Given the description of an element on the screen output the (x, y) to click on. 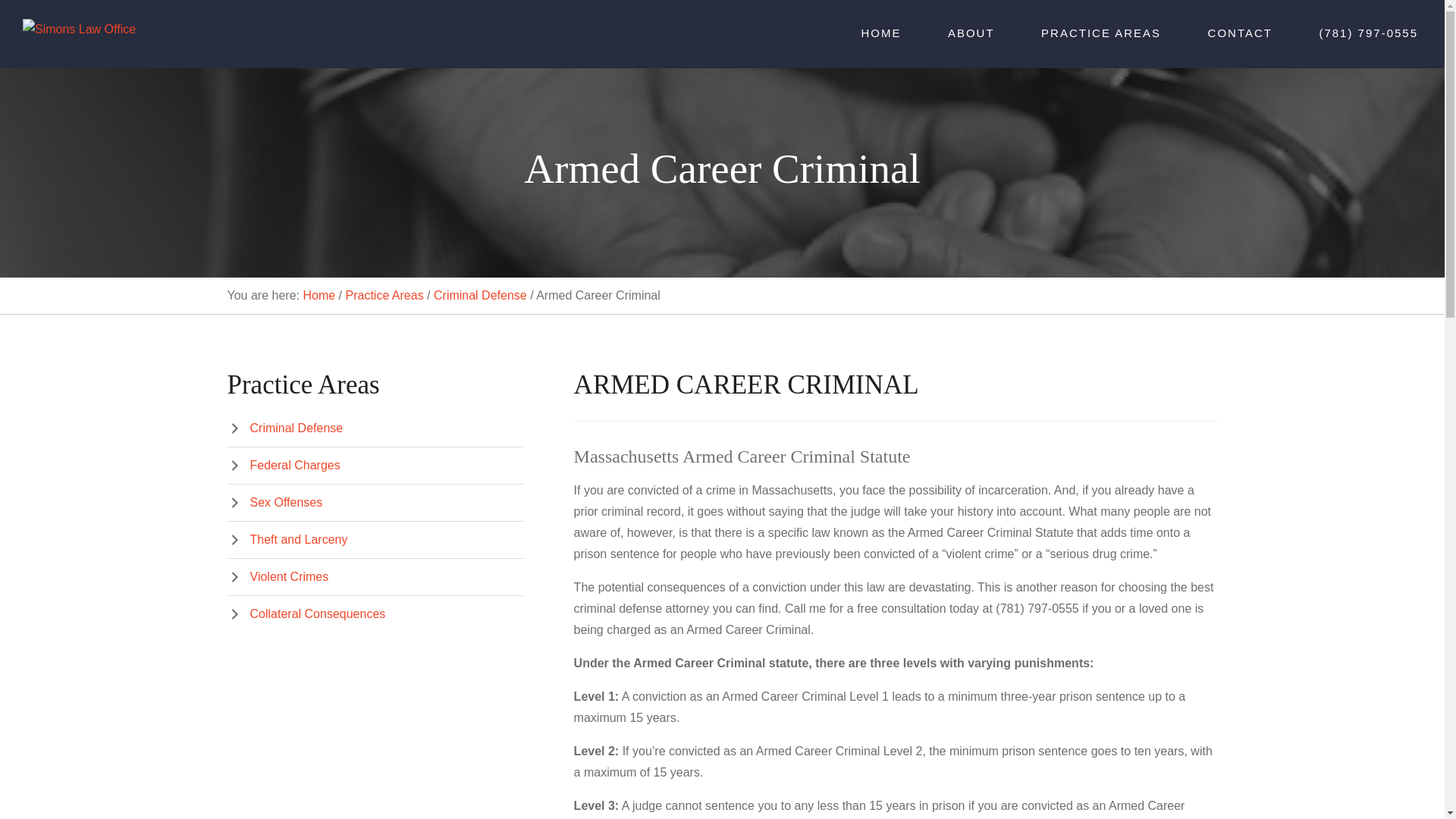
CONTACT (1240, 34)
Home (318, 295)
ABOUT (970, 34)
Criminal Defense (285, 427)
Federal Charges (283, 464)
Criminal Defense (480, 295)
Violent Crimes (278, 576)
Collateral Consequences (306, 613)
Scroll to Top (1408, 782)
Theft and Larceny (287, 539)
